Given the description of an element on the screen output the (x, y) to click on. 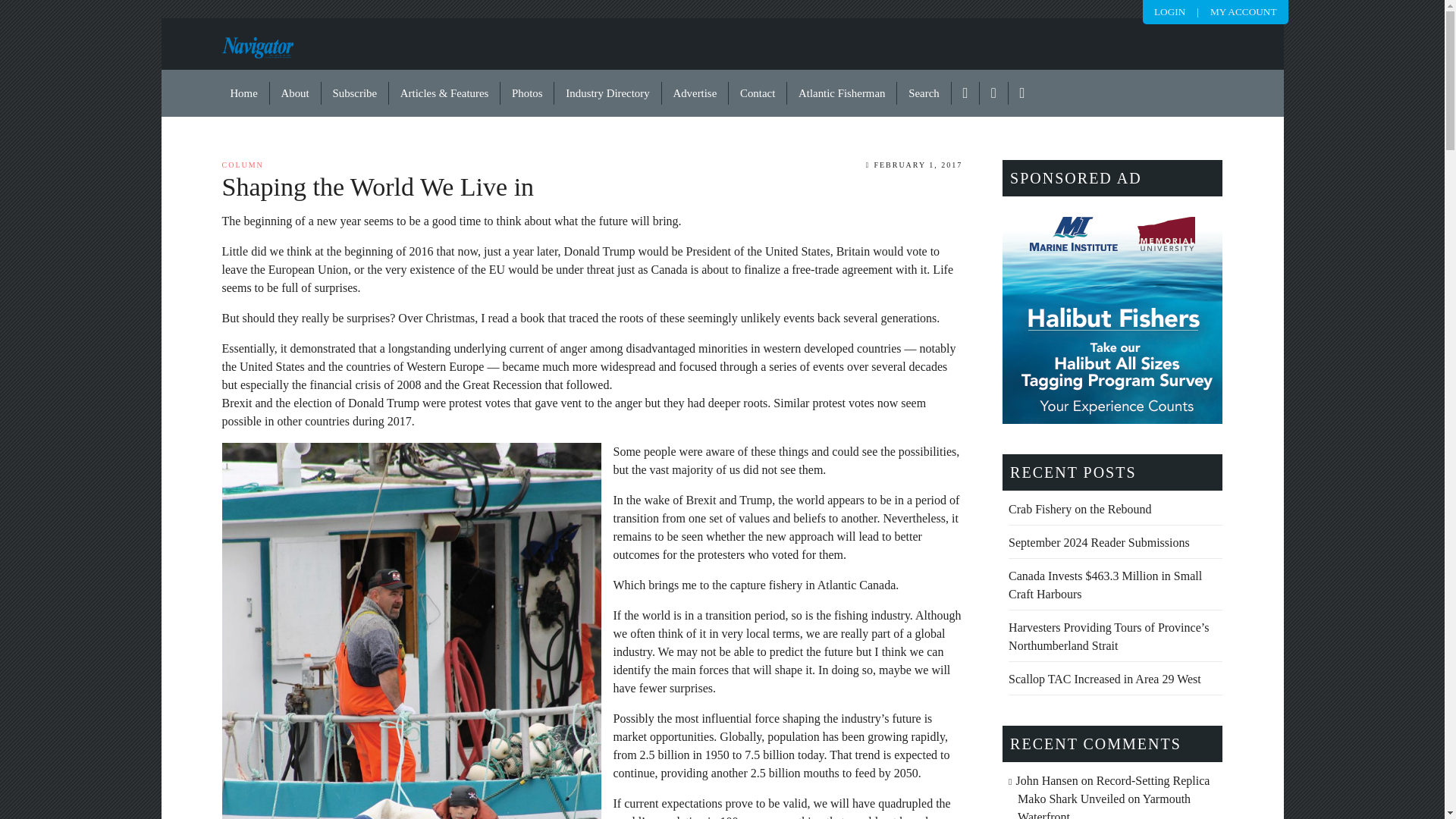
Home (243, 92)
Search (923, 92)
Search (923, 92)
LOGIN (1169, 11)
Industry Directory (607, 92)
Advertise (695, 92)
Subscribe (354, 92)
Atlantic Fisherman (841, 92)
COLUMN (242, 164)
About (295, 92)
